Given the description of an element on the screen output the (x, y) to click on. 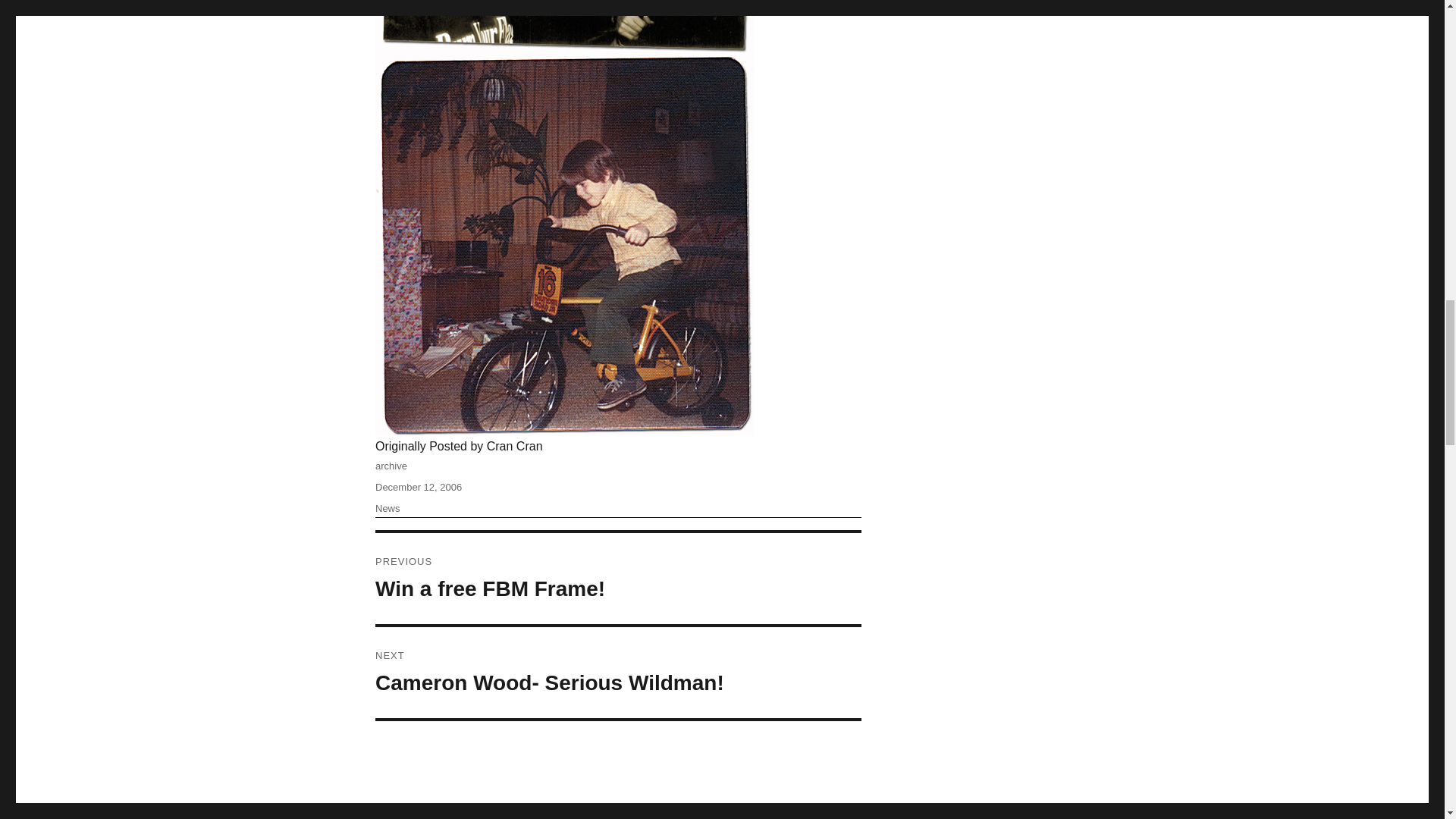
News (618, 578)
December 12, 2006 (618, 672)
archive (387, 508)
